Given the description of an element on the screen output the (x, y) to click on. 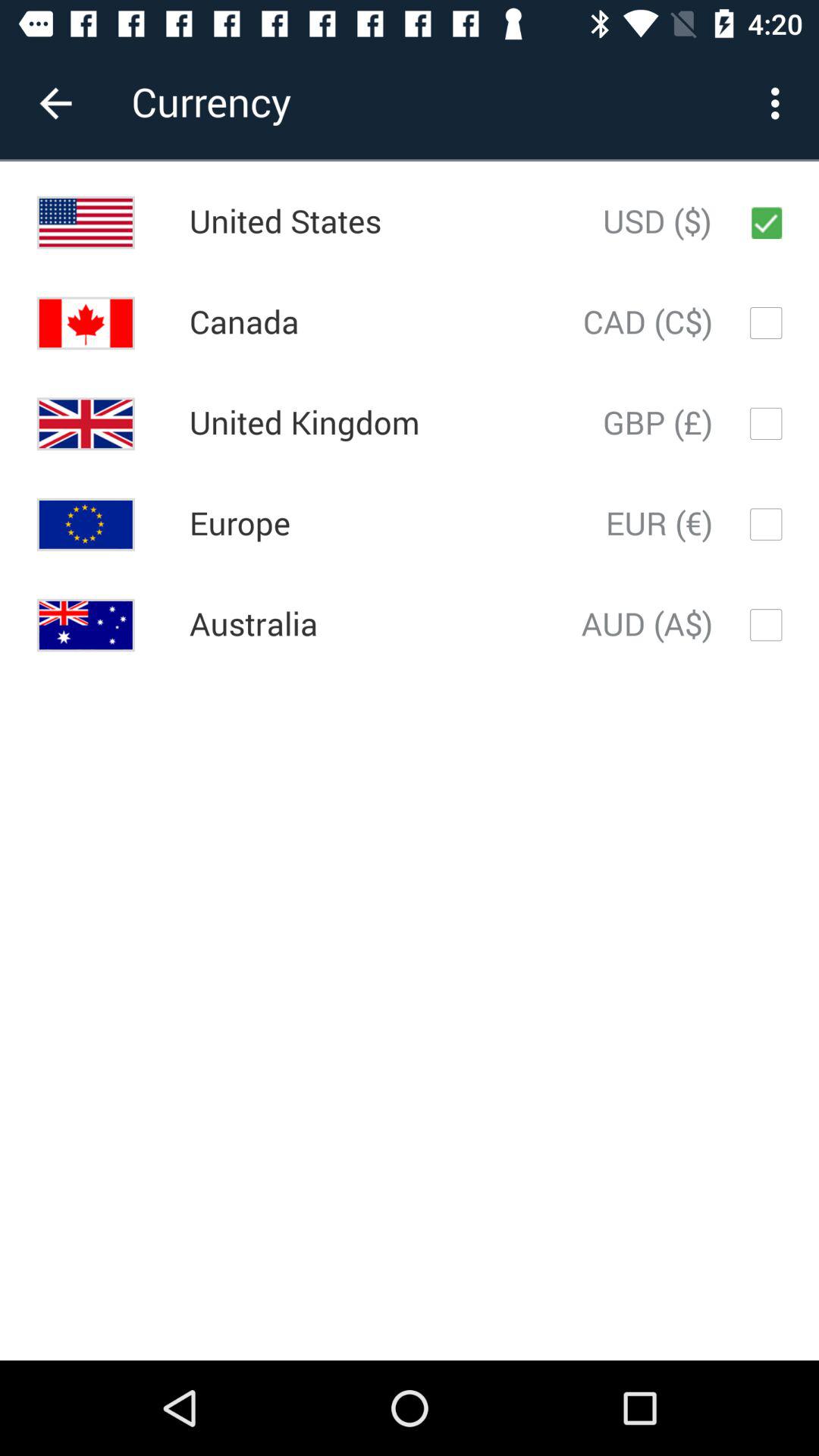
open item above australia item (239, 524)
